Given the description of an element on the screen output the (x, y) to click on. 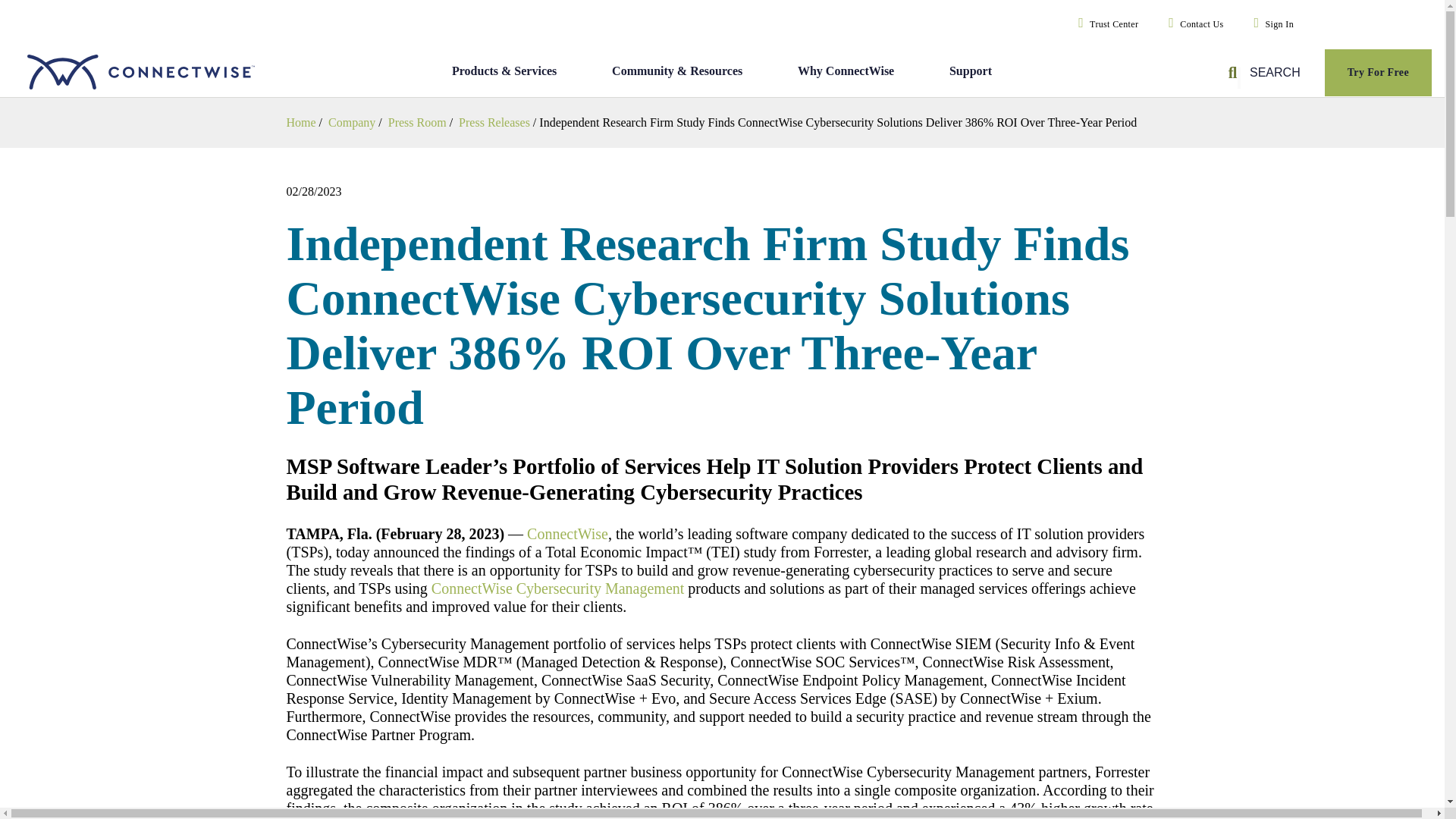
Sign In (1270, 24)
Contact Us (1192, 24)
SEARCH (1266, 72)
Try For Free (1377, 72)
Trust Center (1104, 24)
Sign In (1270, 24)
ConnectWise Logo (155, 72)
Contact Us (1192, 24)
Trust Center (1104, 24)
